Given the description of an element on the screen output the (x, y) to click on. 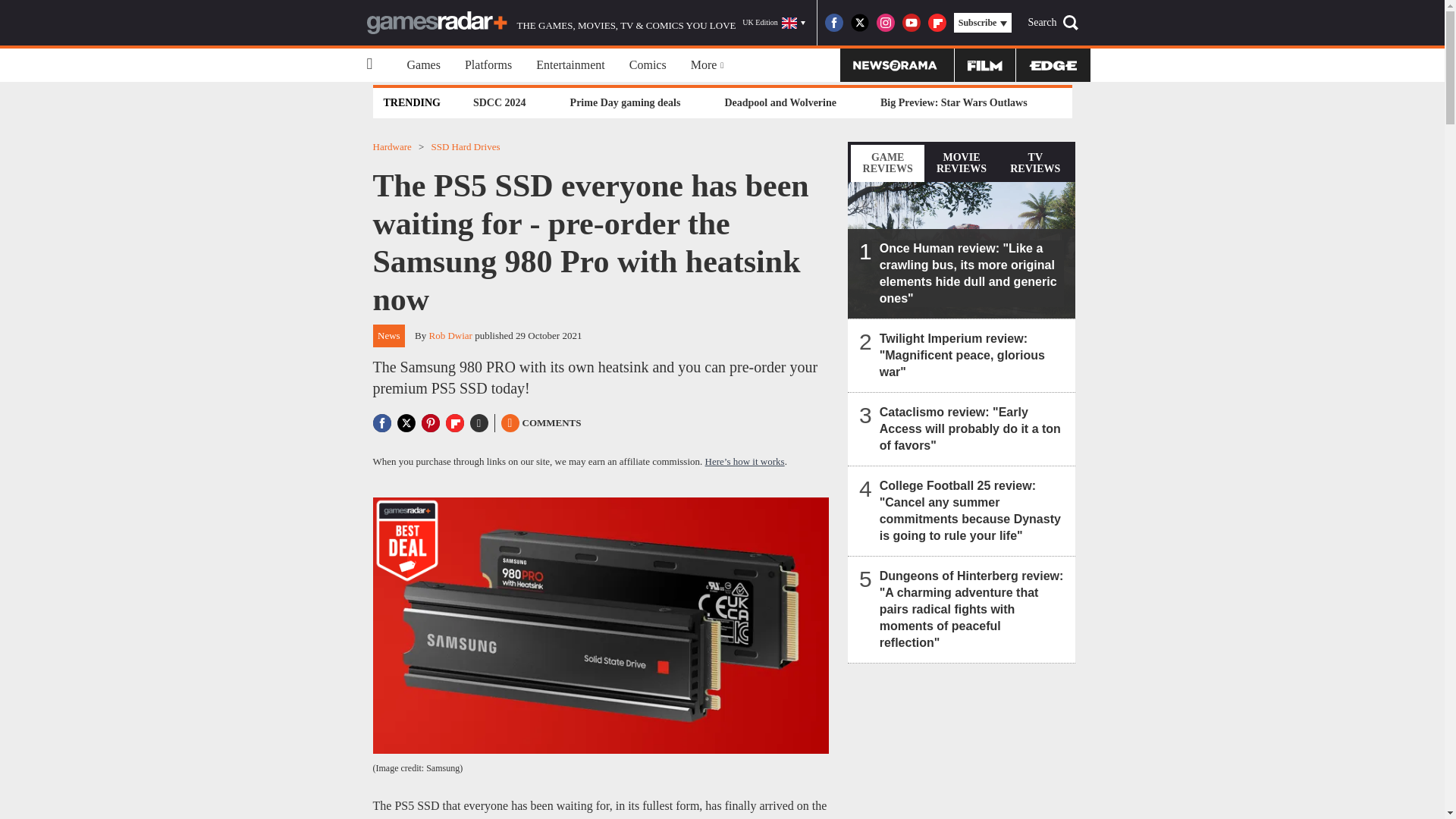
Entertainment (570, 64)
Big Preview: Star Wars Outlaws (953, 102)
Comics (647, 64)
Prime Day gaming deals (624, 102)
SDCC 2024 (499, 102)
Platforms (488, 64)
Games (422, 64)
Deadpool and Wolverine (780, 102)
UK Edition (773, 22)
